Given the description of an element on the screen output the (x, y) to click on. 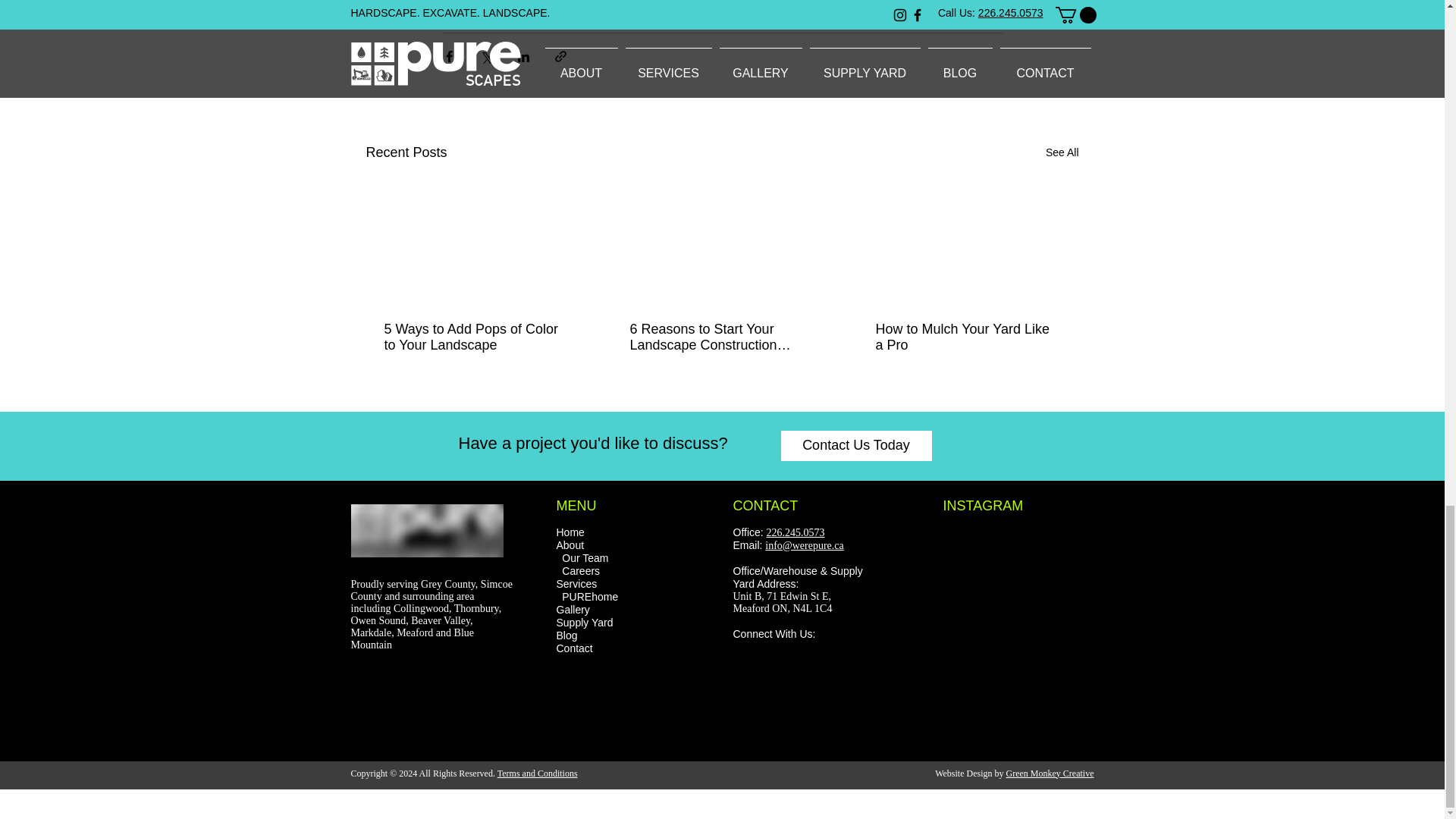
Blog (567, 635)
Home (570, 532)
Supply Yard (584, 622)
How to Mulch Your Yard Like a Pro (966, 336)
Contact Us Today (855, 445)
226.245.0573 (796, 532)
Contact (574, 648)
Gallery (572, 609)
5 Ways to Add Pops of Color to Your Landscape (475, 336)
Services (576, 583)
PUREhome (589, 596)
See All (1061, 152)
Careers (580, 571)
Our Team (585, 558)
